Given the description of an element on the screen output the (x, y) to click on. 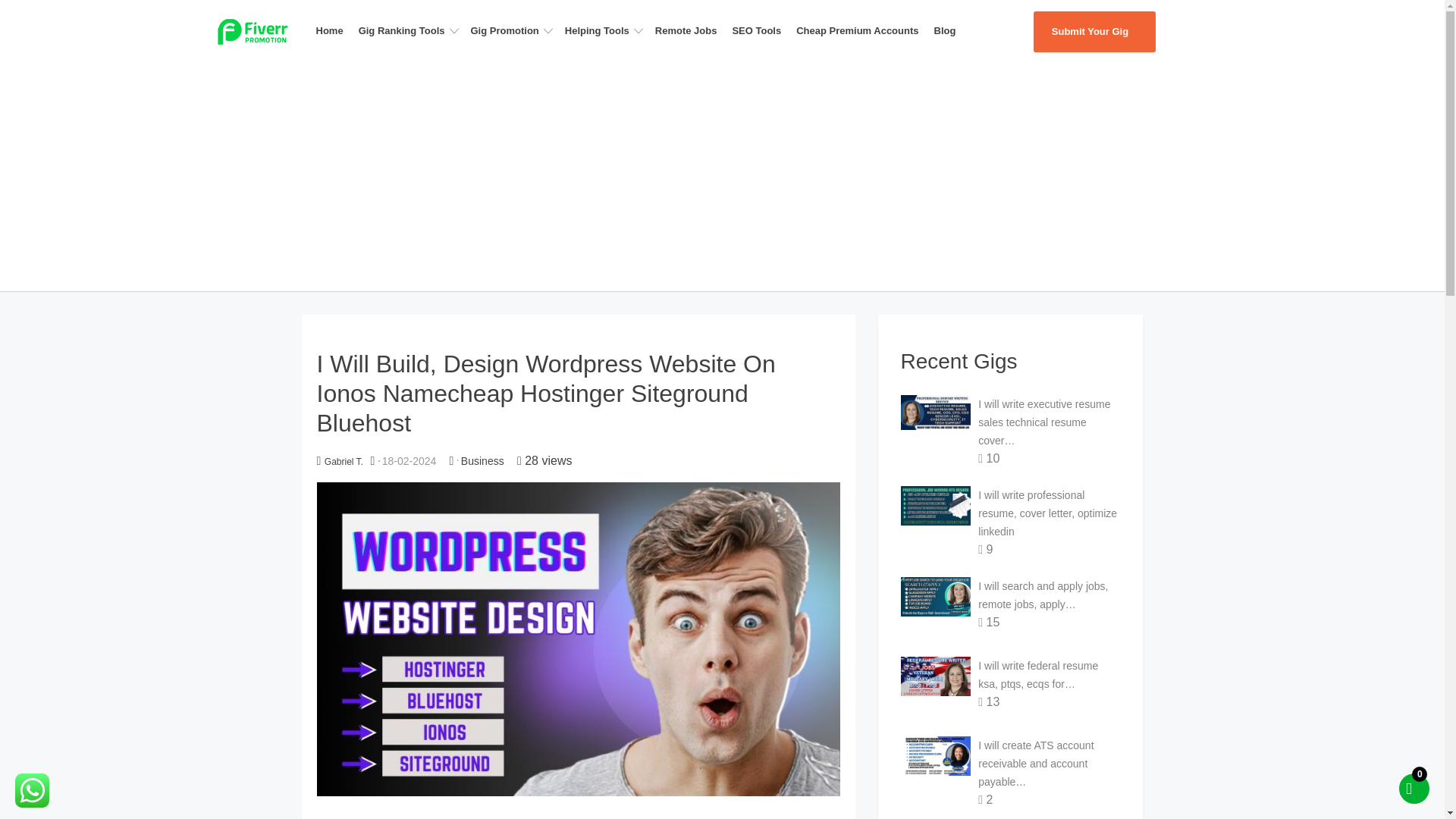
Business (482, 460)
Gig Ranking Tools (411, 30)
18-02-2024 (408, 460)
Remote Jobs (690, 30)
Gabriel T. (343, 461)
SEO Tools (761, 30)
Home (334, 30)
Submit Your Gig (1094, 31)
Gig Promotion (513, 30)
